Given the description of an element on the screen output the (x, y) to click on. 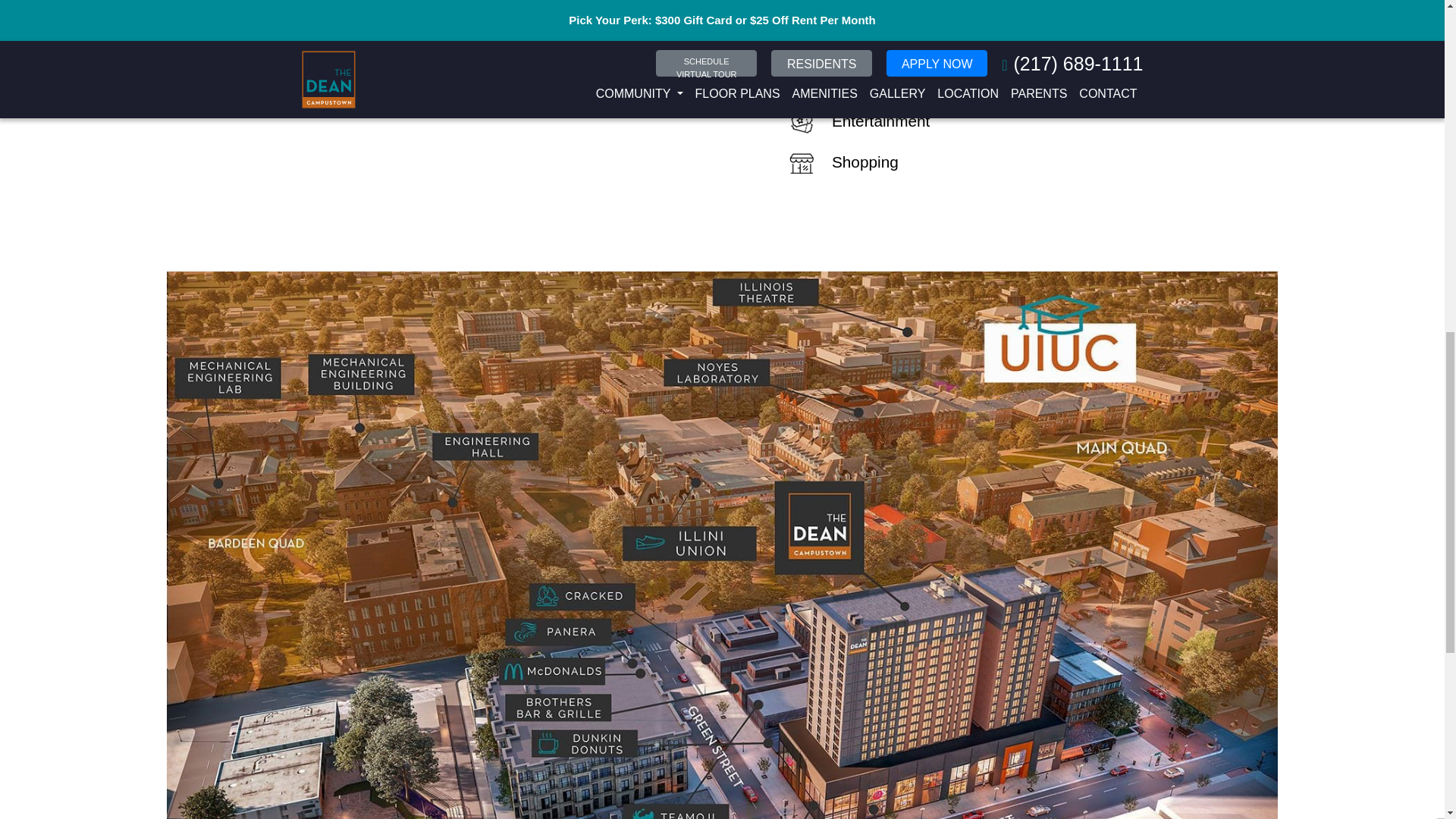
Shopping (840, 162)
Local Recreation (866, 80)
Campus (836, 6)
Entertainment (856, 121)
